Given the description of an element on the screen output the (x, y) to click on. 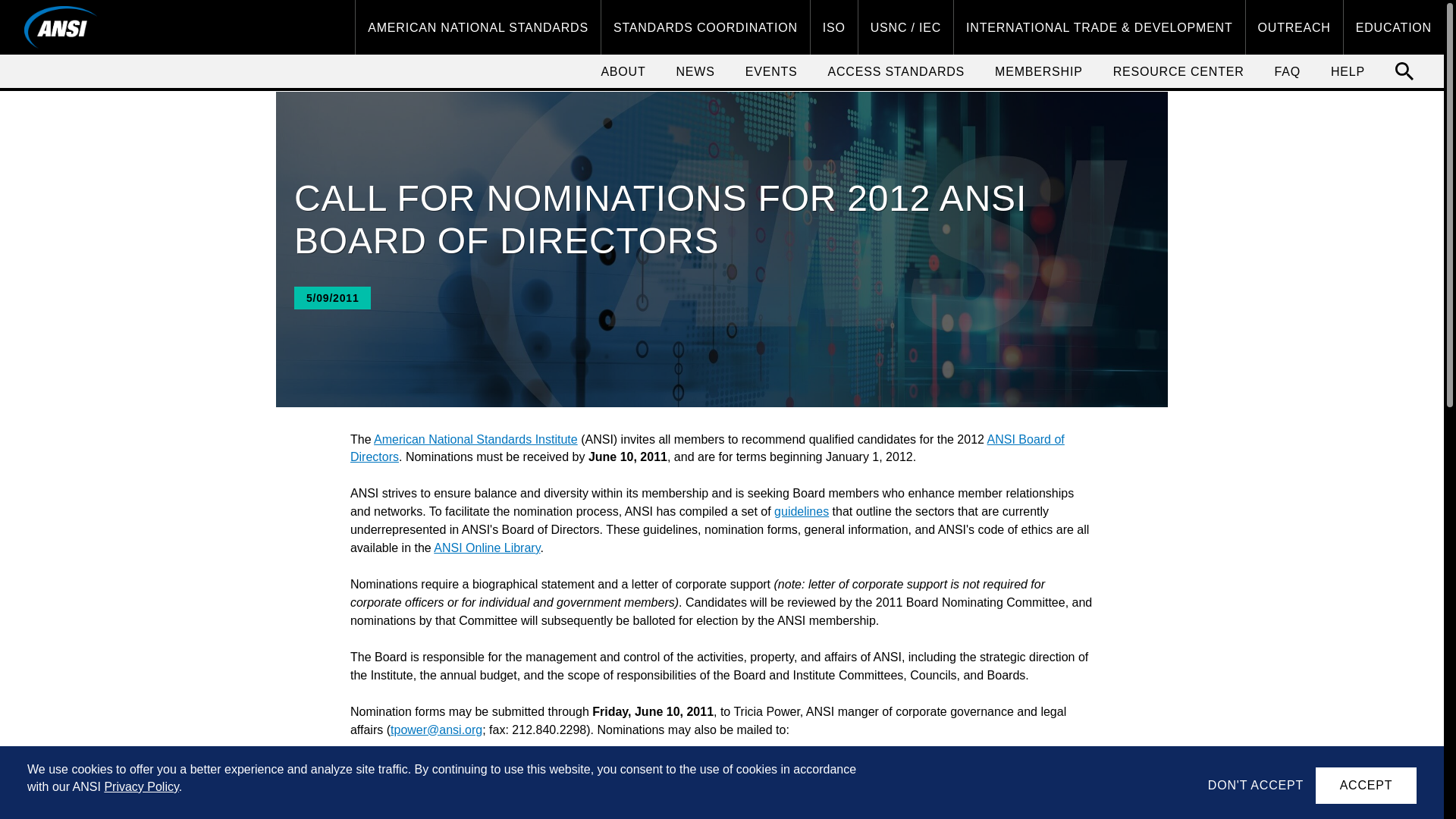
STANDARDS COORDINATION (705, 27)
Home (60, 26)
AMERICAN NATIONAL STANDARDS (477, 27)
